Given the description of an element on the screen output the (x, y) to click on. 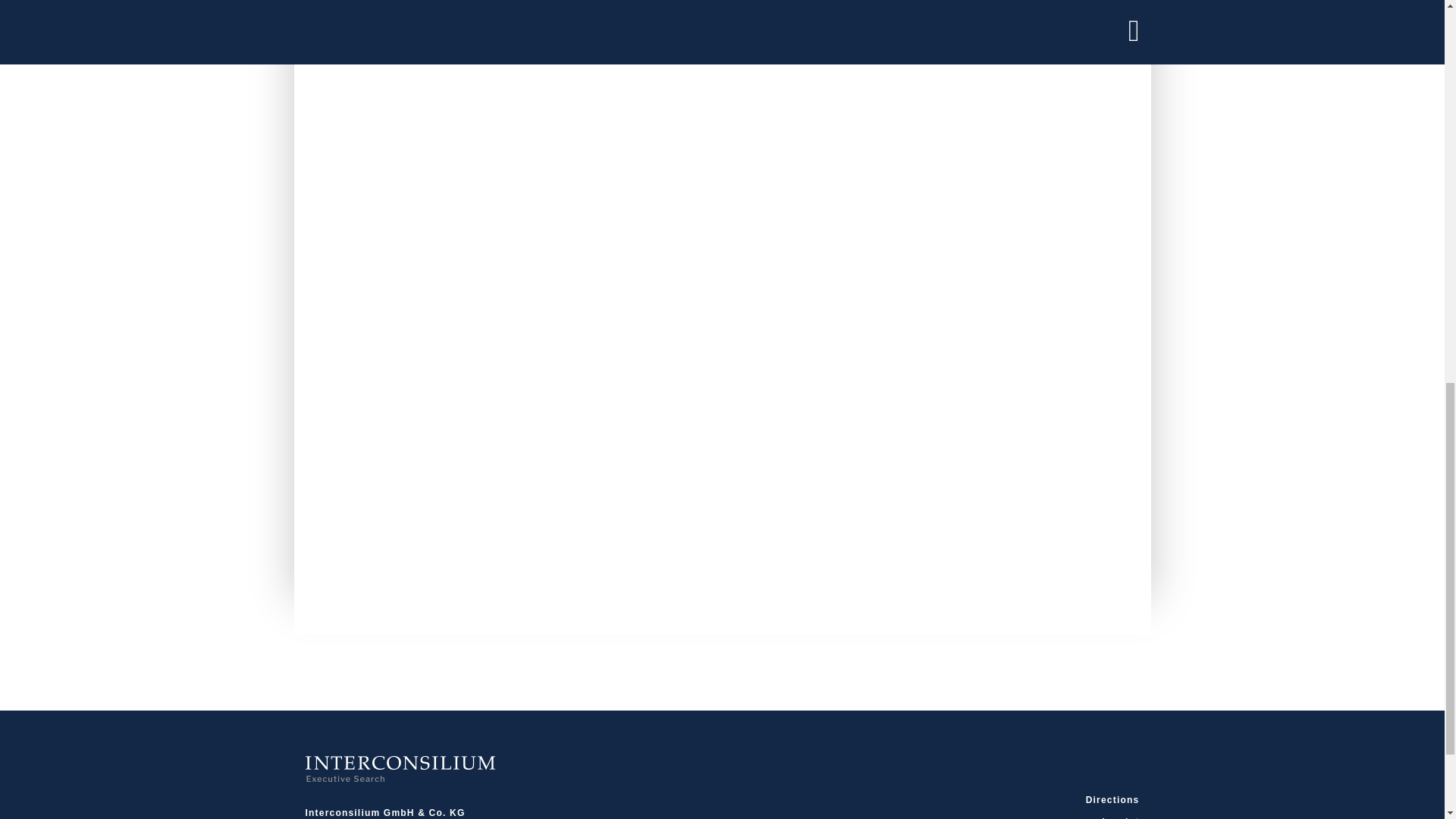
Send (367, 560)
Directions (1010, 798)
